Given the description of an element on the screen output the (x, y) to click on. 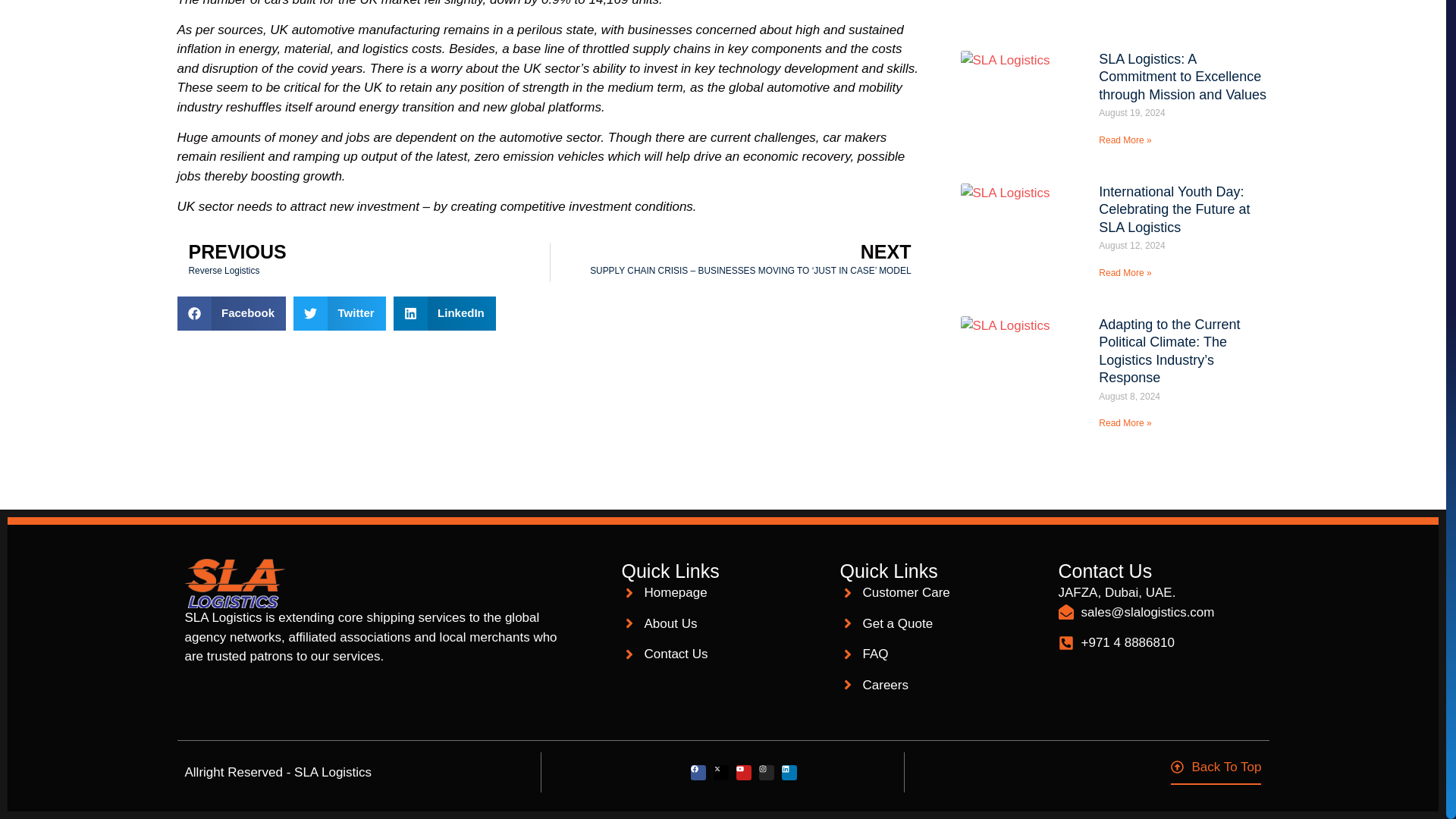
Homepage (723, 592)
Customer Care (941, 592)
About Us (723, 623)
Contact Us (723, 654)
